Given the description of an element on the screen output the (x, y) to click on. 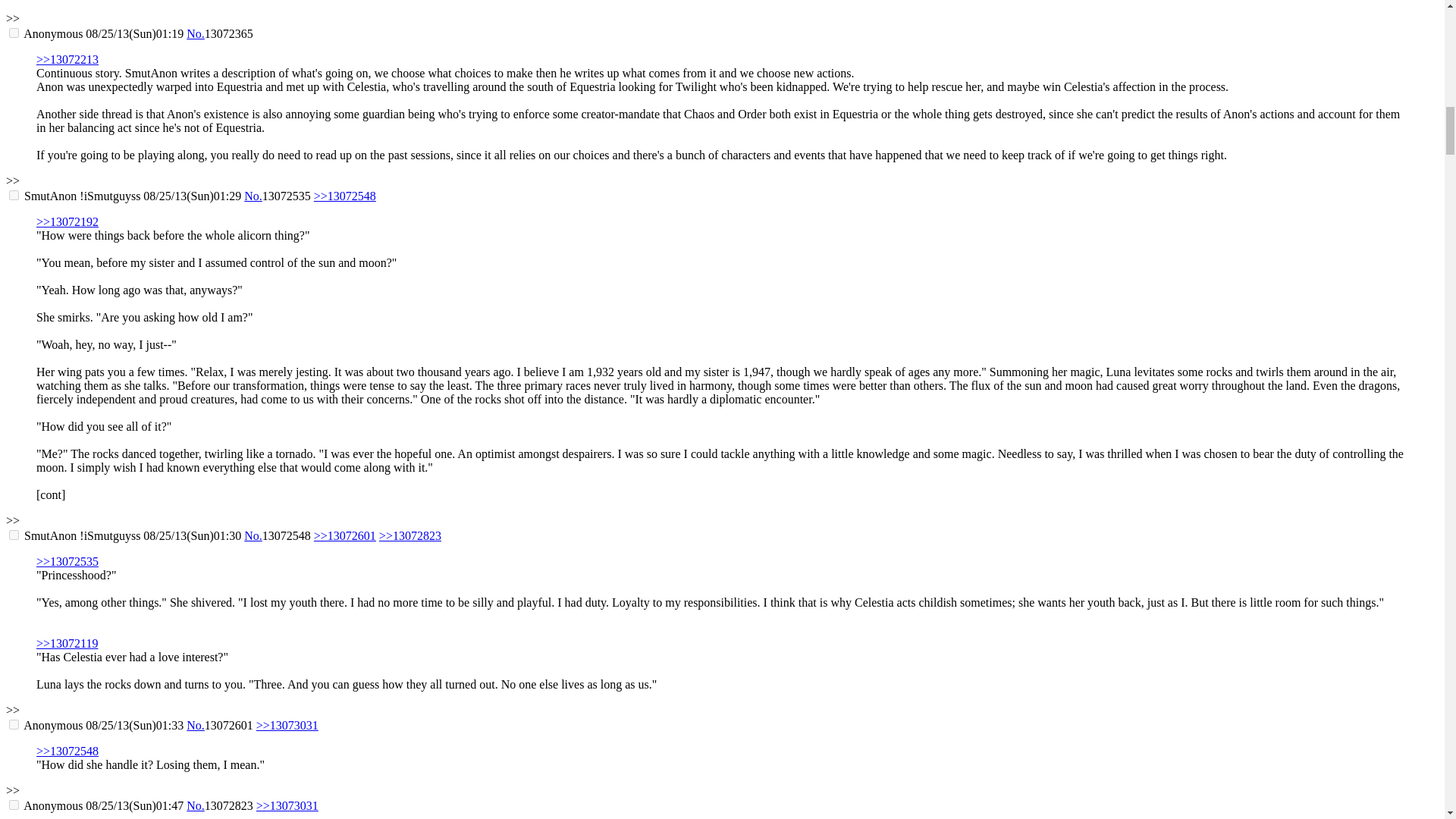
on (13, 724)
on (13, 804)
on (13, 194)
on (13, 534)
on (13, 32)
